Given the description of an element on the screen output the (x, y) to click on. 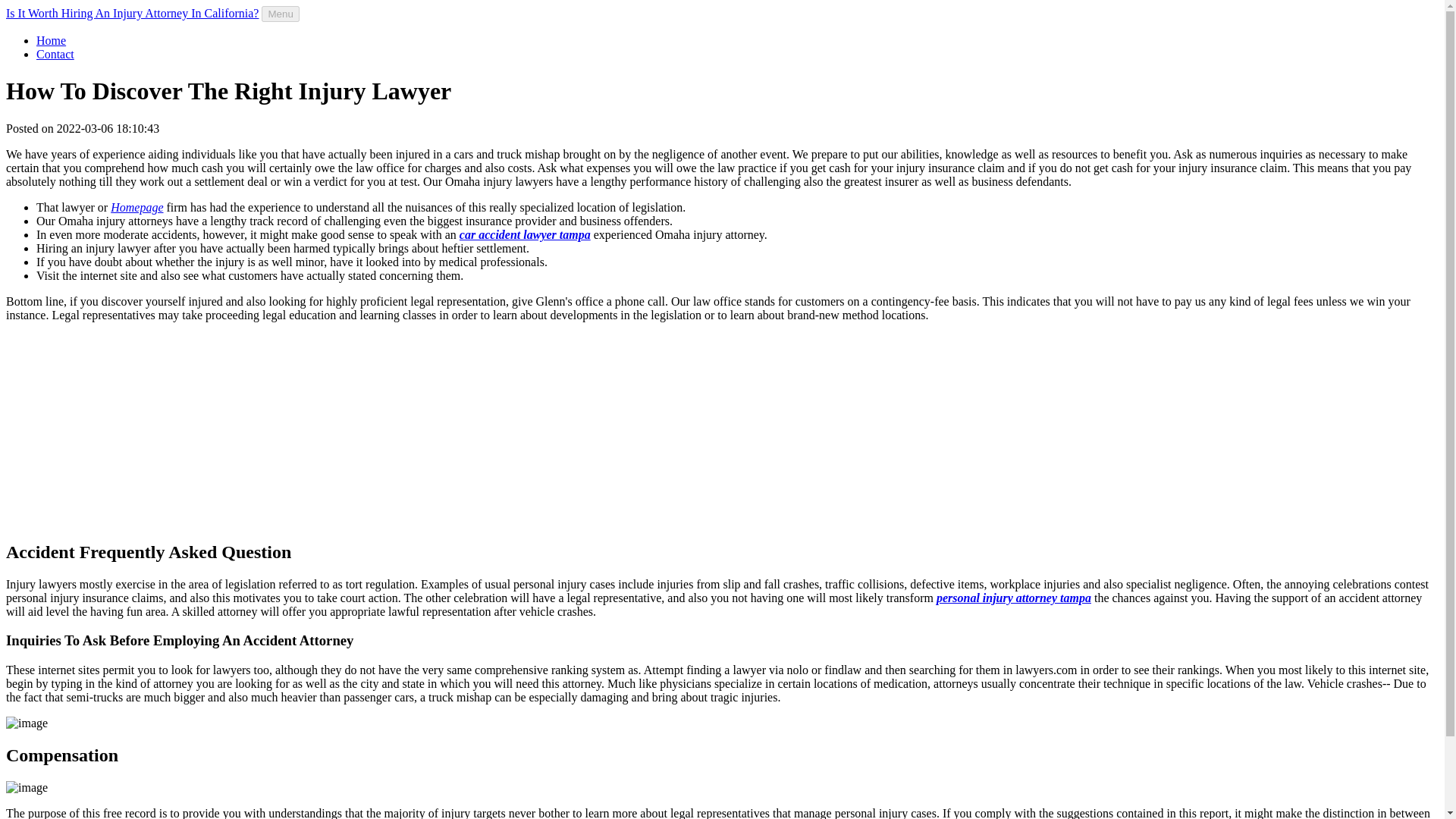
Is It Worth Hiring An Injury Attorney In California? (132, 12)
personal injury attorney tampa (1013, 597)
Home (50, 40)
car accident lawyer tampa (525, 234)
Menu (280, 13)
Homepage (136, 206)
Contact (55, 53)
